Given the description of an element on the screen output the (x, y) to click on. 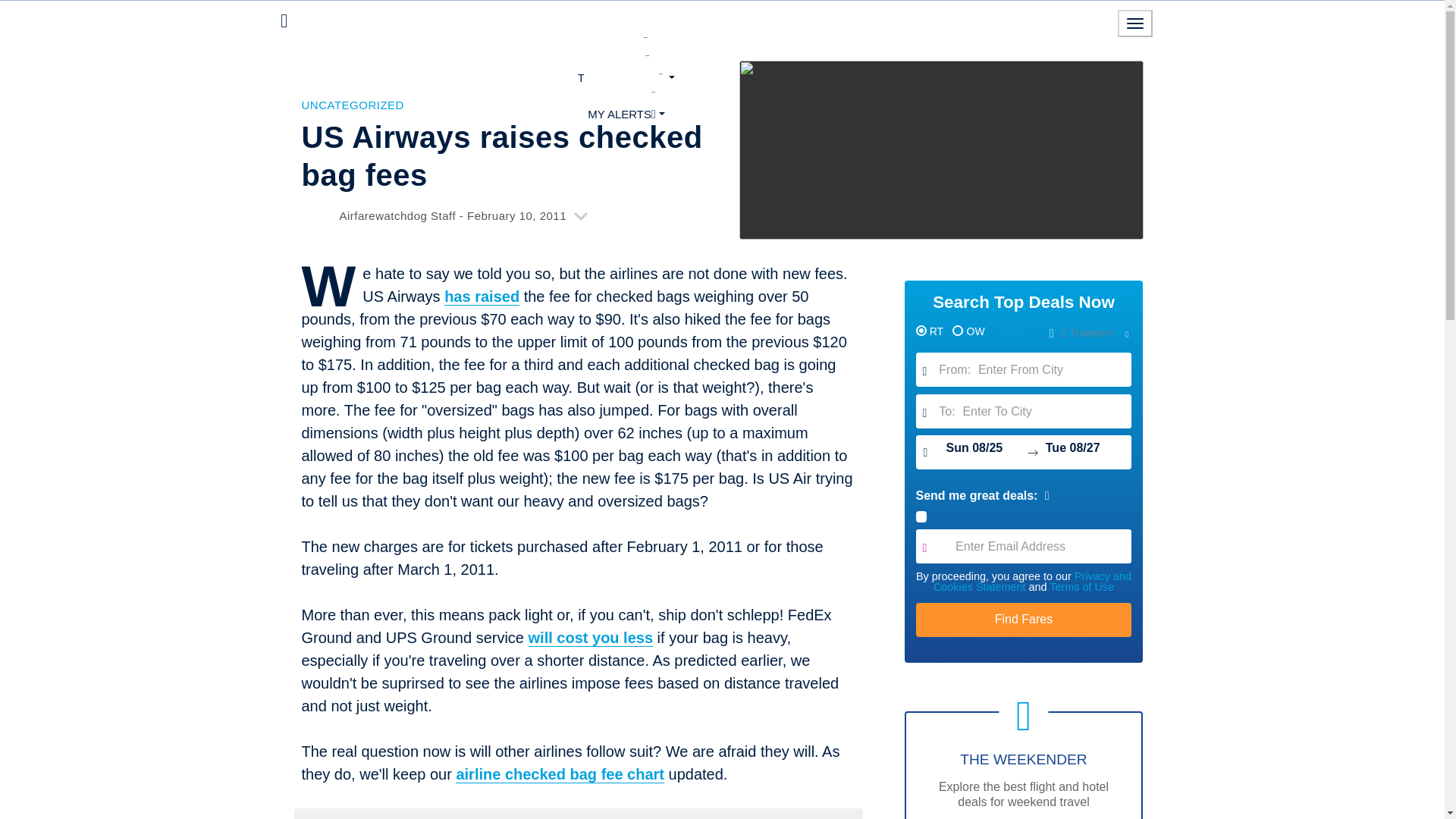
TRAVEL BLOG (626, 77)
AIRLINES (625, 58)
FLIGHTS (625, 40)
Toggle navigation (1135, 22)
